Given the description of an element on the screen output the (x, y) to click on. 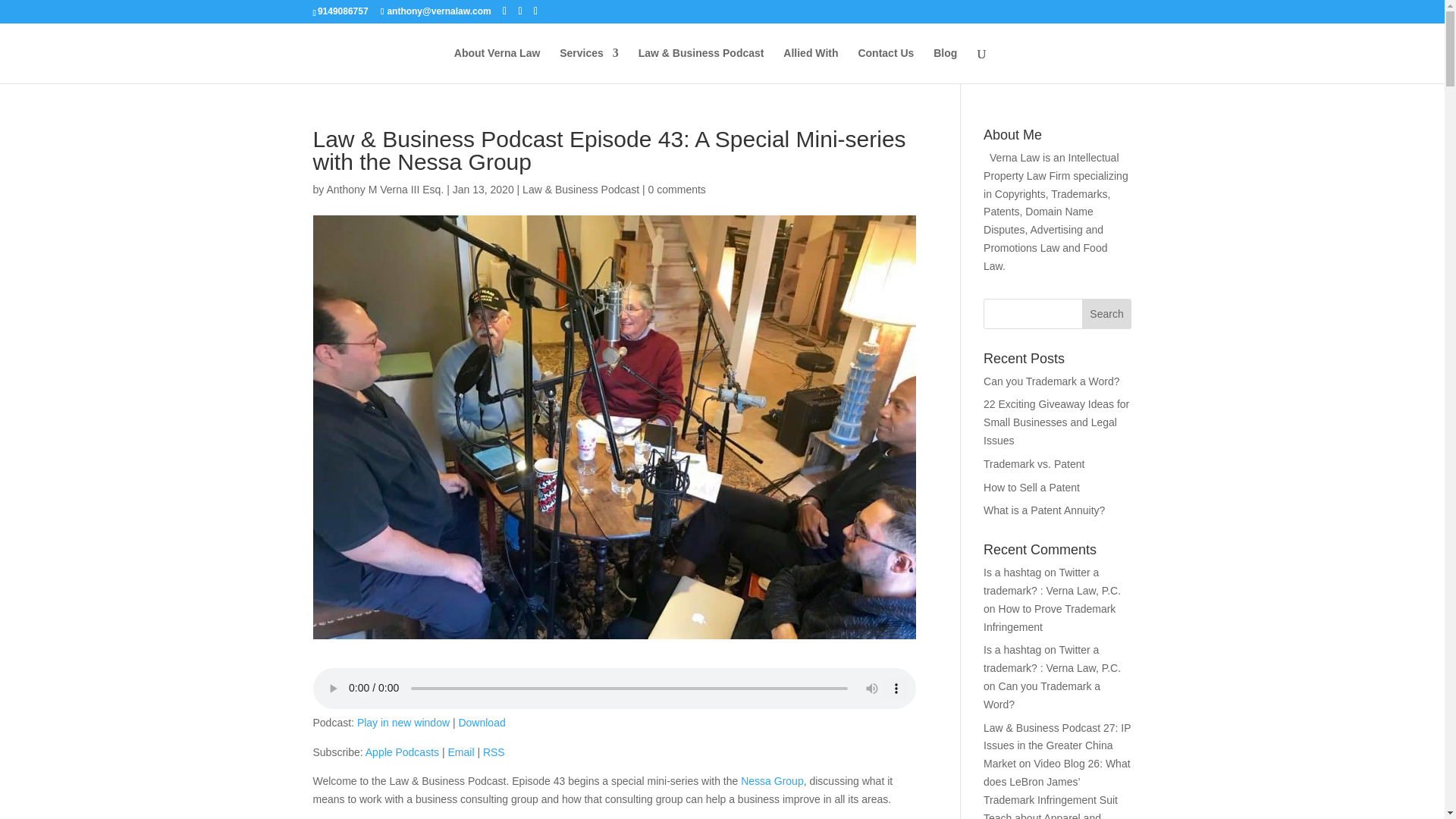
0 comments (676, 189)
Download (481, 722)
Contact Us (885, 65)
About Verna Law (497, 65)
RSS (494, 752)
Subscribe by Email (460, 752)
Play in new window (402, 722)
Subscribe via RSS (494, 752)
Download (481, 722)
Allied With (810, 65)
Services (588, 65)
Anthony M Verna III Esq. (385, 189)
Play in new window (402, 722)
Nessa Group (772, 780)
Email (460, 752)
